Given the description of an element on the screen output the (x, y) to click on. 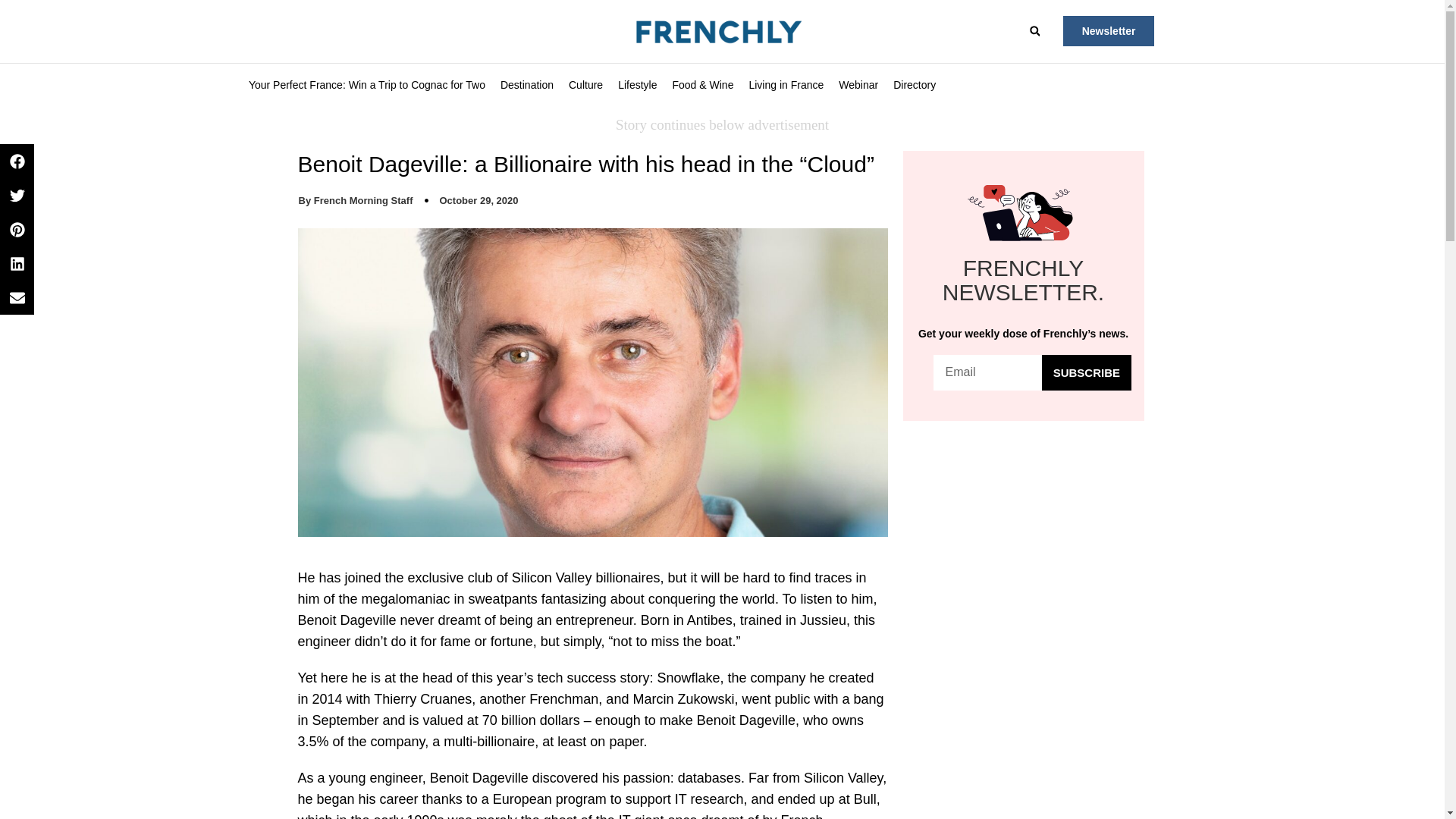
Your Perfect France: Win a Trip to Cognac for Two (367, 85)
Living in France (786, 85)
Culture (585, 85)
Directory (914, 85)
Newsletter (1108, 30)
Destination (526, 85)
Lifestyle (636, 85)
Webinar (858, 85)
